Given the description of an element on the screen output the (x, y) to click on. 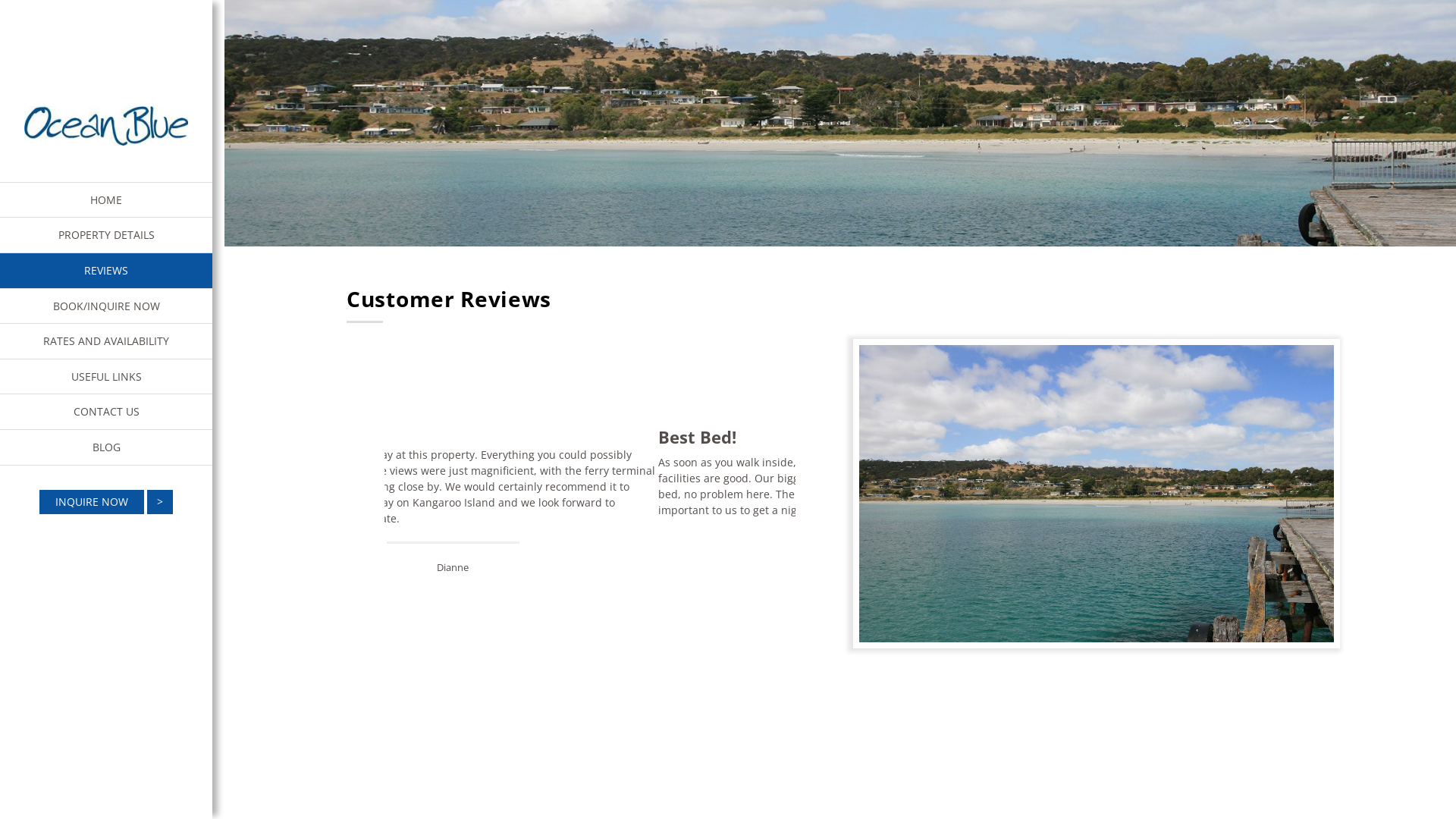
INQUIRE NOW Element type: text (105, 501)
BOOK/INQUIRE NOW Element type: text (106, 305)
BLOG Element type: text (106, 446)
REVIEWS Element type: text (106, 270)
PROPERTY DETAILS Element type: text (106, 234)
USEFUL LINKS Element type: text (106, 376)
RATES AND AVAILABILITY Element type: text (106, 340)
HOME Element type: text (106, 199)
CONTACT US Element type: text (106, 411)
